Given the description of an element on the screen output the (x, y) to click on. 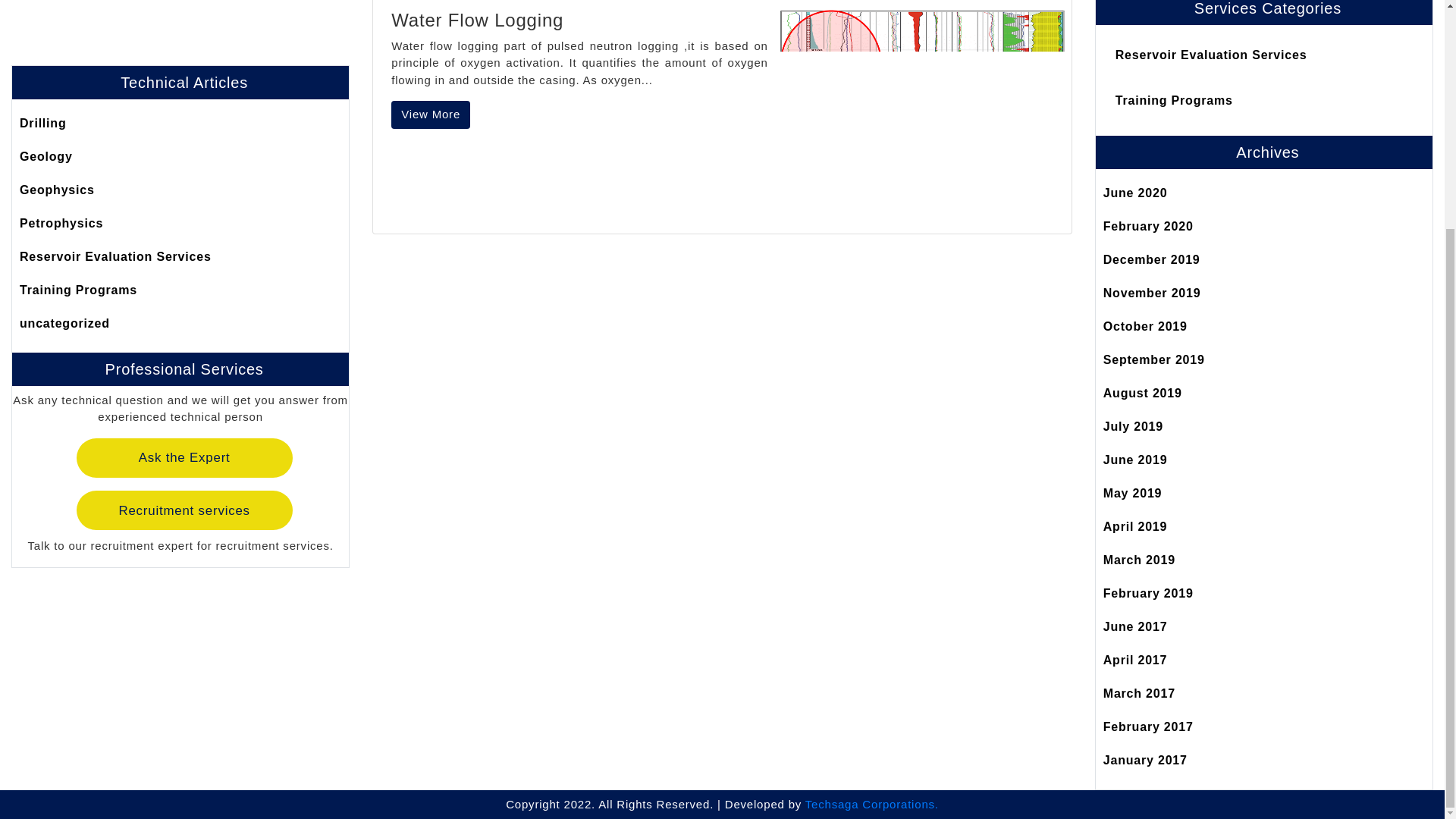
uncategorized (180, 249)
Training Programs (1264, 100)
Geophysics (180, 115)
October 2019 (1264, 326)
February 2020 (1264, 226)
Geology (180, 82)
Ask the Expert (184, 383)
Recruitment services (184, 435)
April 2017 (1264, 660)
View More (430, 114)
Drilling (180, 49)
June 2020 (1264, 192)
December 2019 (1264, 259)
Reservoir Evaluation Services (180, 182)
September 2019 (1264, 359)
